Given the description of an element on the screen output the (x, y) to click on. 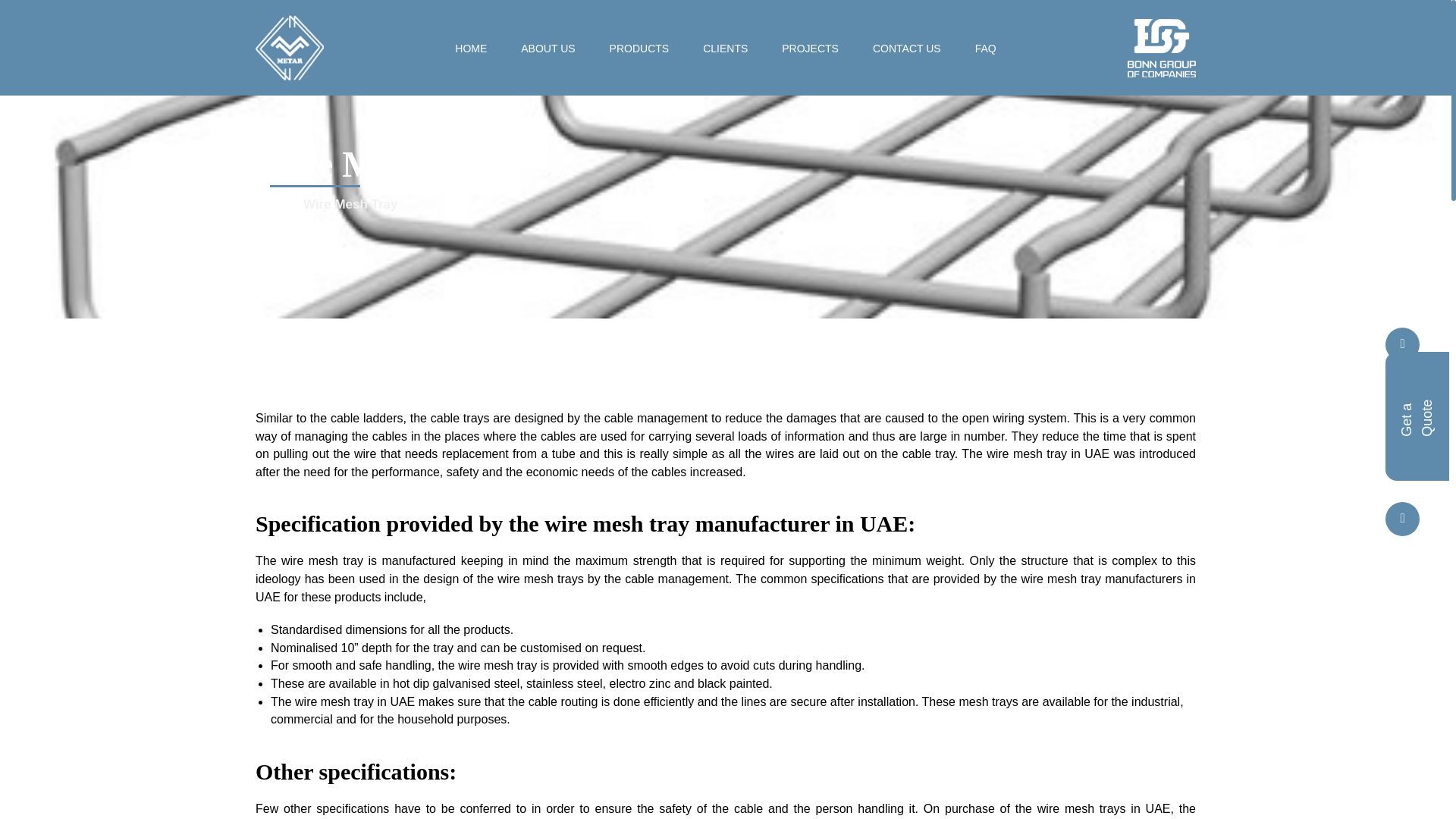
Home (273, 204)
ABOUT US (548, 48)
CONTACT US (906, 48)
PROJECTS (809, 48)
HOME (470, 48)
PRODUCTS (639, 48)
FAQ (985, 48)
CLIENTS (725, 48)
